Given the description of an element on the screen output the (x, y) to click on. 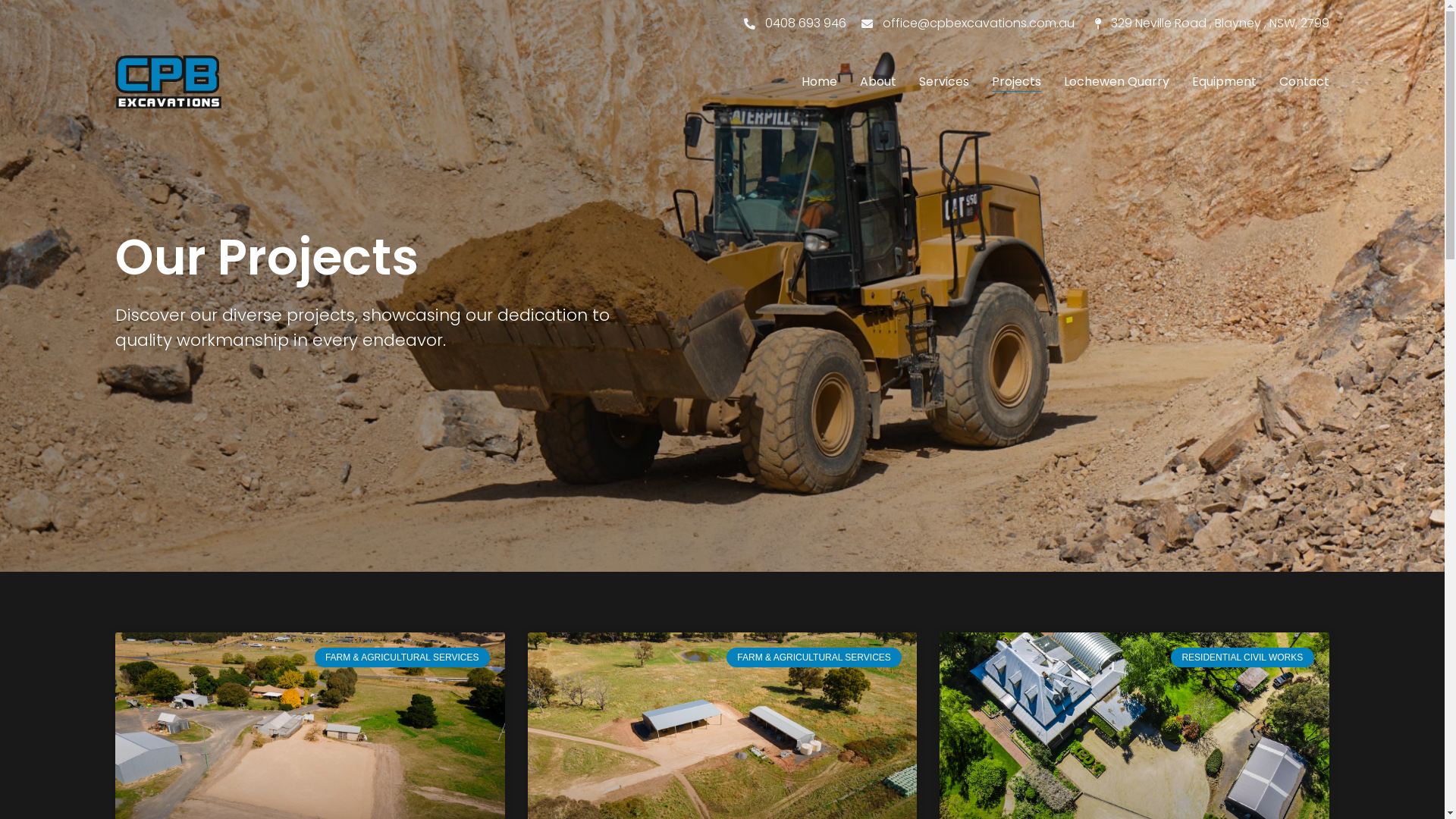
Home Element type: text (819, 81)
Services Element type: text (944, 81)
Projects Element type: text (1016, 81)
About Element type: text (877, 81)
office@cpbexcavations.com.au Element type: text (966, 23)
Equipment Element type: text (1224, 81)
Lochewen Quarry Element type: text (1116, 81)
Contact Element type: text (1304, 81)
329 Neville Road , Blayney , NSW, 2799 Element type: text (1207, 23)
0408 693 946 Element type: text (793, 23)
